Given the description of an element on the screen output the (x, y) to click on. 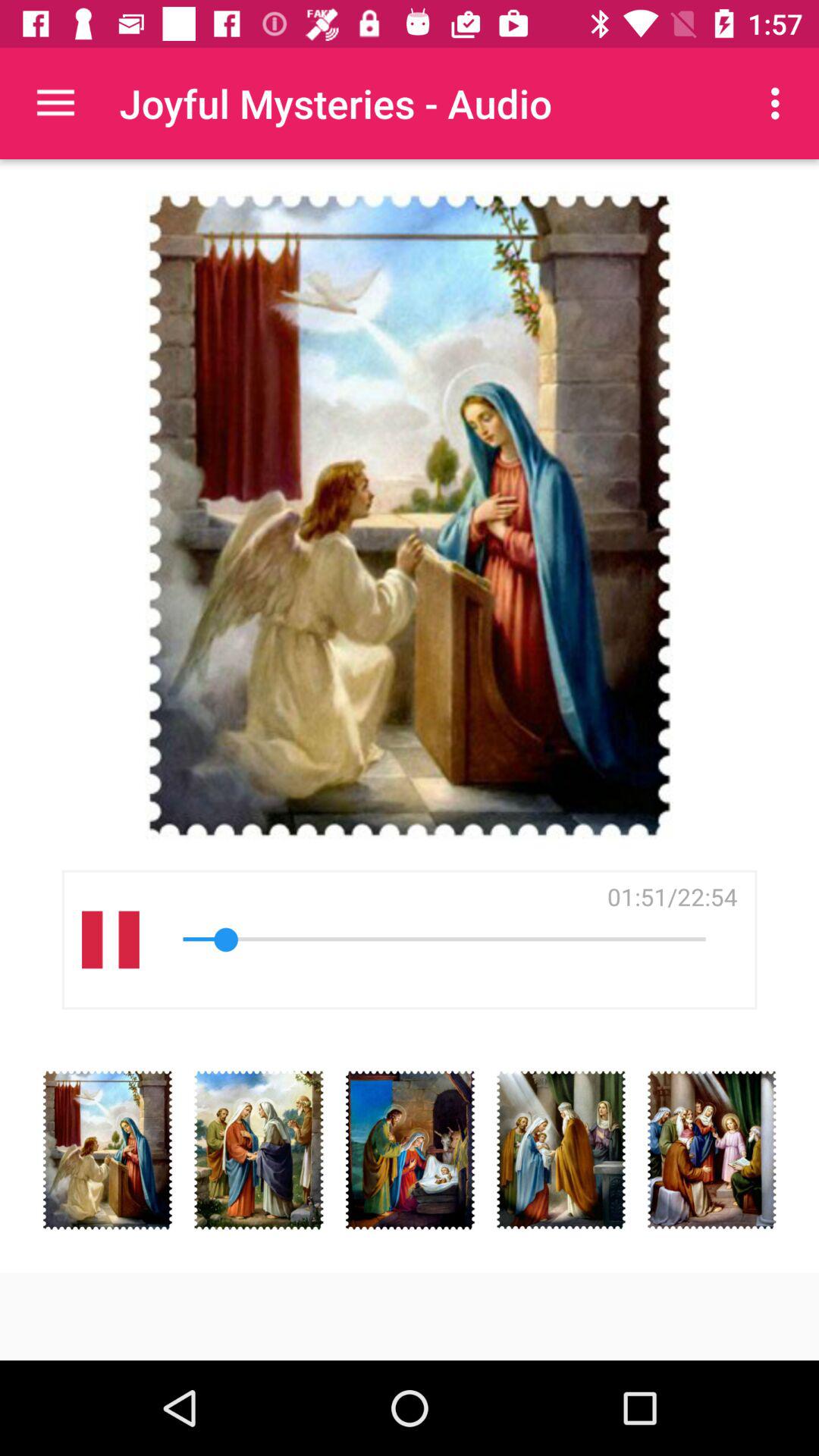
launch item to the right of joyful mysteries - audio (779, 103)
